Given the description of an element on the screen output the (x, y) to click on. 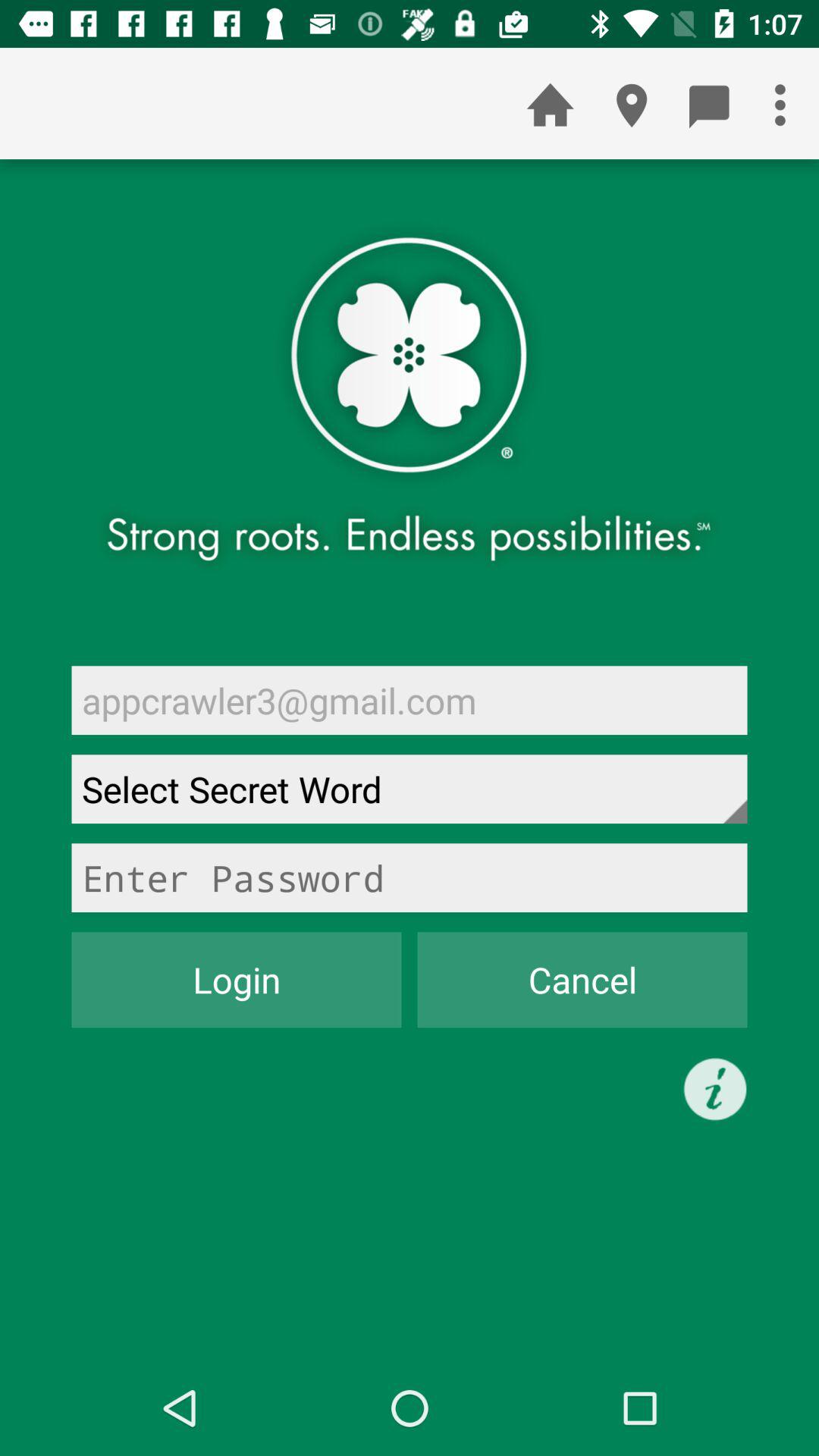
turn off the item above select secret word icon (409, 700)
